Given the description of an element on the screen output the (x, y) to click on. 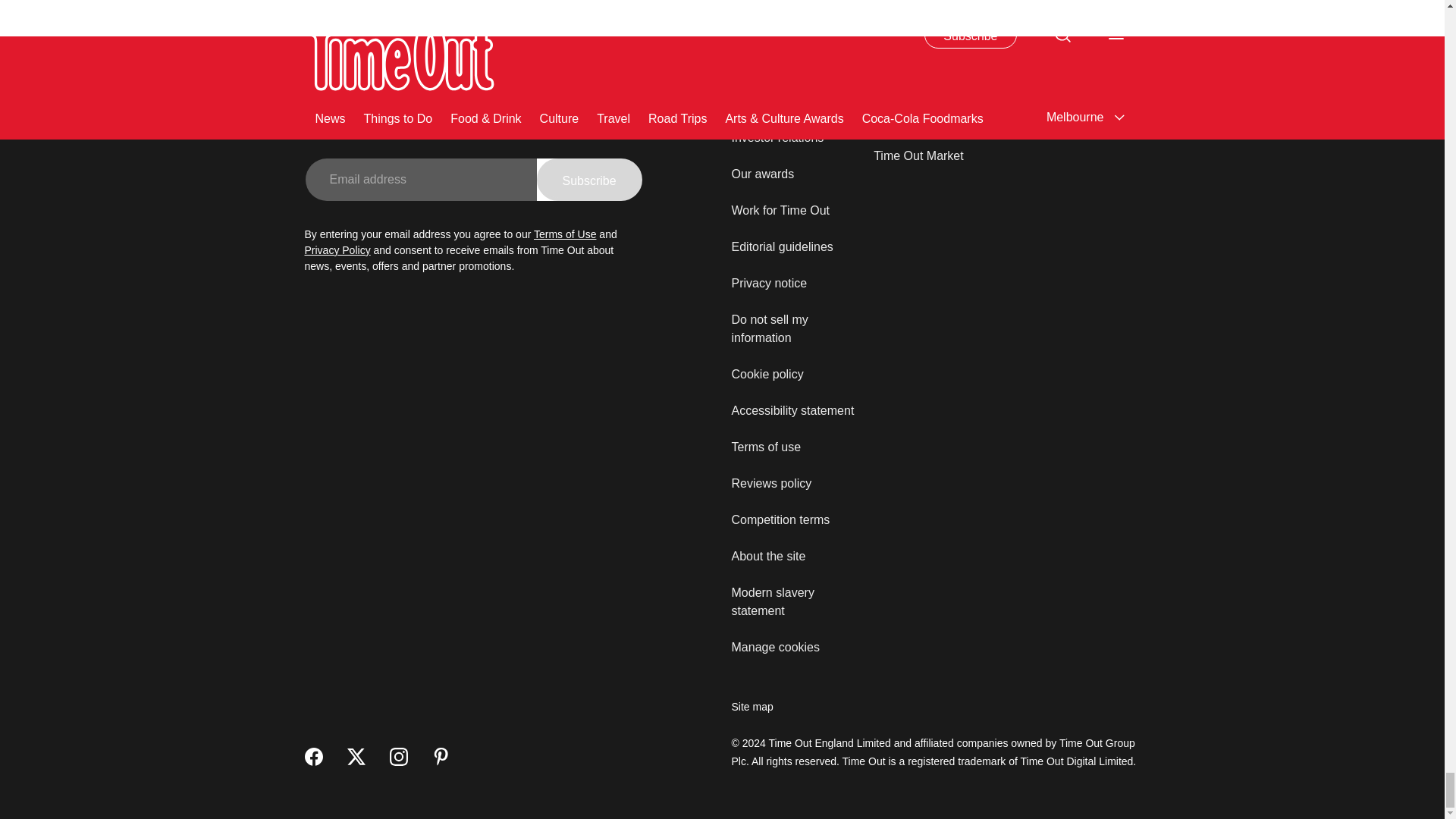
Subscribe (589, 179)
